Given the description of an element on the screen output the (x, y) to click on. 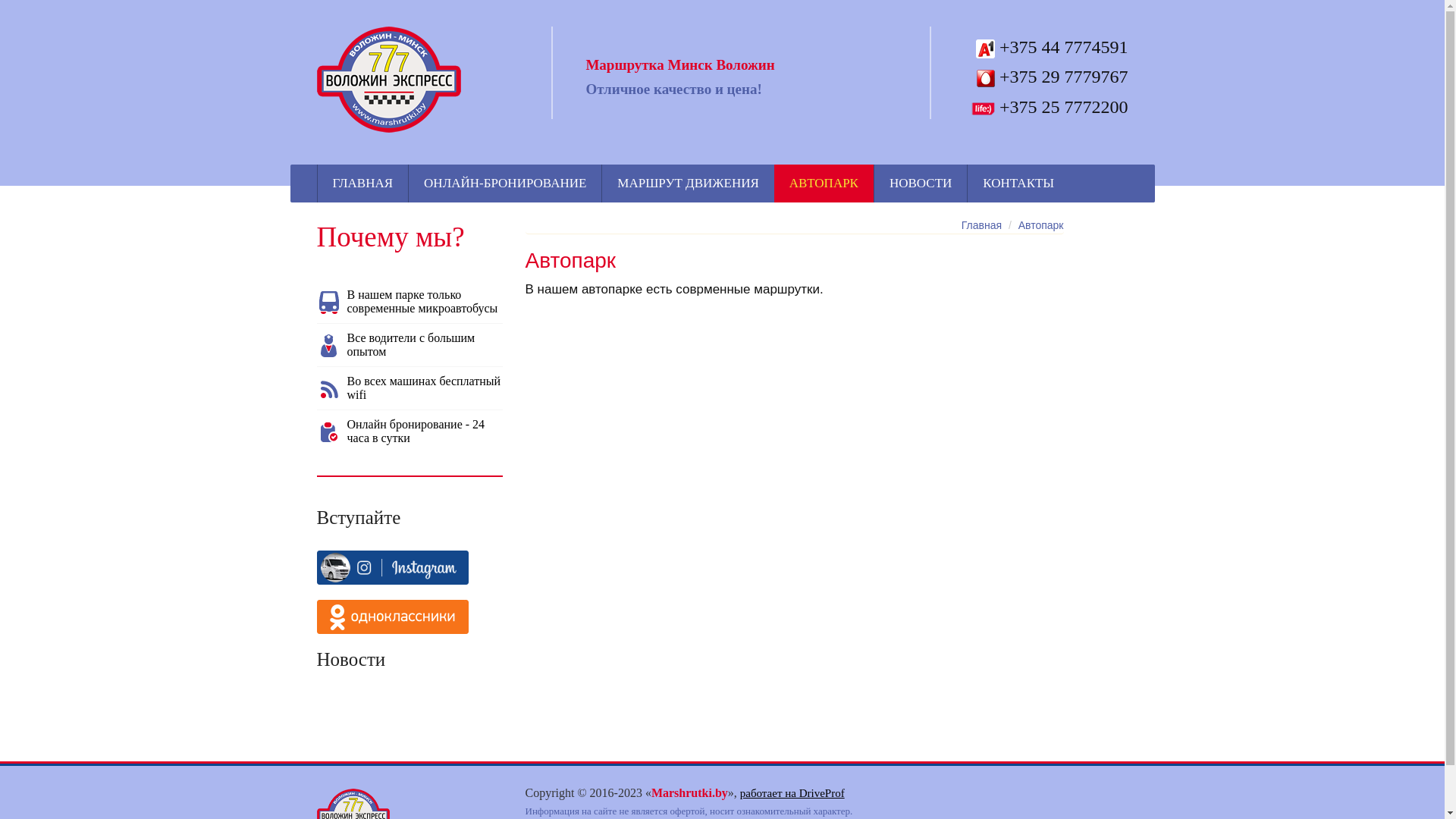
  +375 25 7772200 Element type: text (1047, 106)
  +375 29 7779767 Element type: text (1047, 76)
Marshrutki.by Element type: hover (388, 78)
  +375 44 7774591 Element type: text (1047, 46)
